Given the description of an element on the screen output the (x, y) to click on. 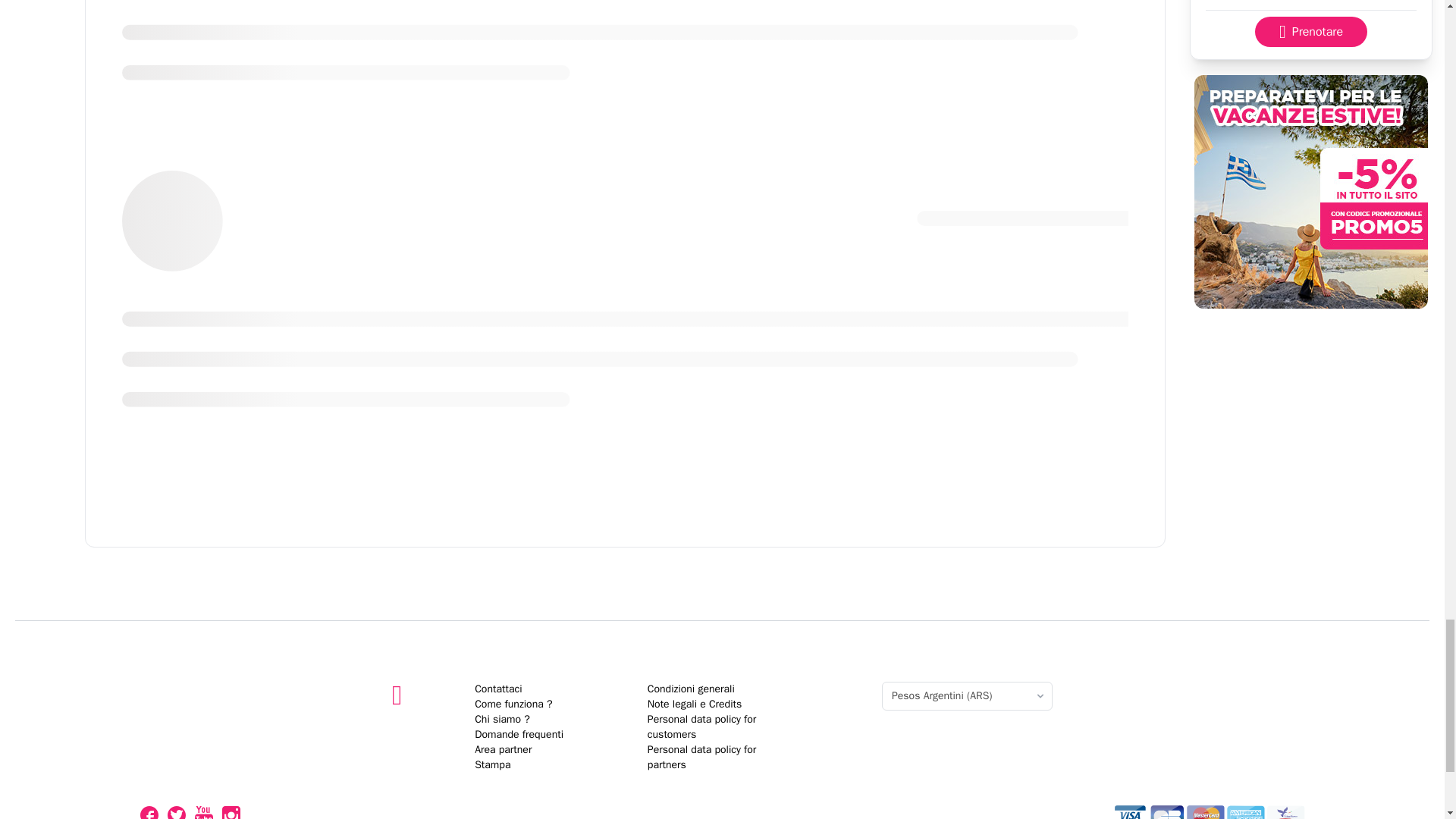
Contattaci (497, 688)
